Given the description of an element on the screen output the (x, y) to click on. 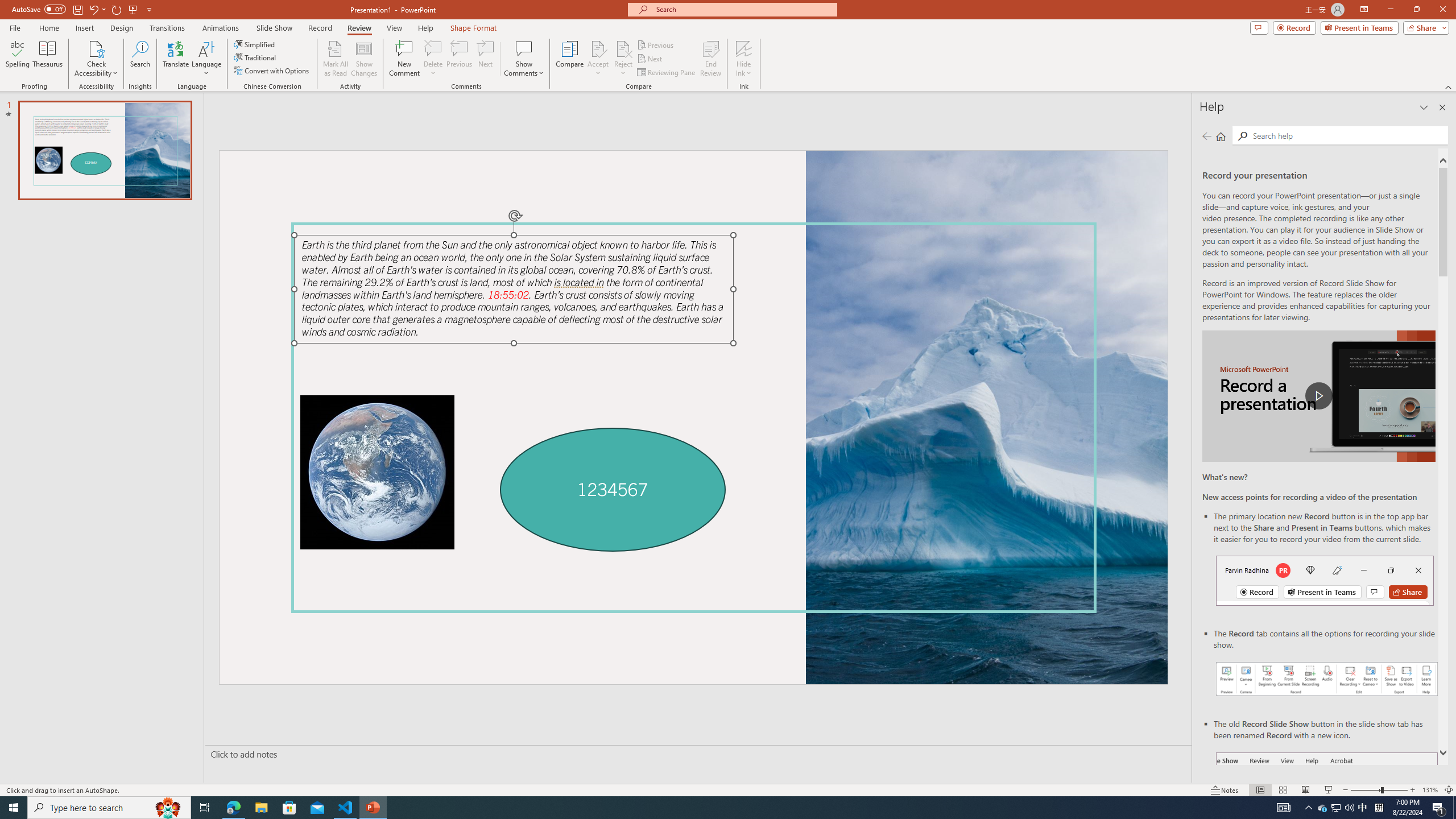
Next (649, 58)
Translate (175, 58)
